Given the description of an element on the screen output the (x, y) to click on. 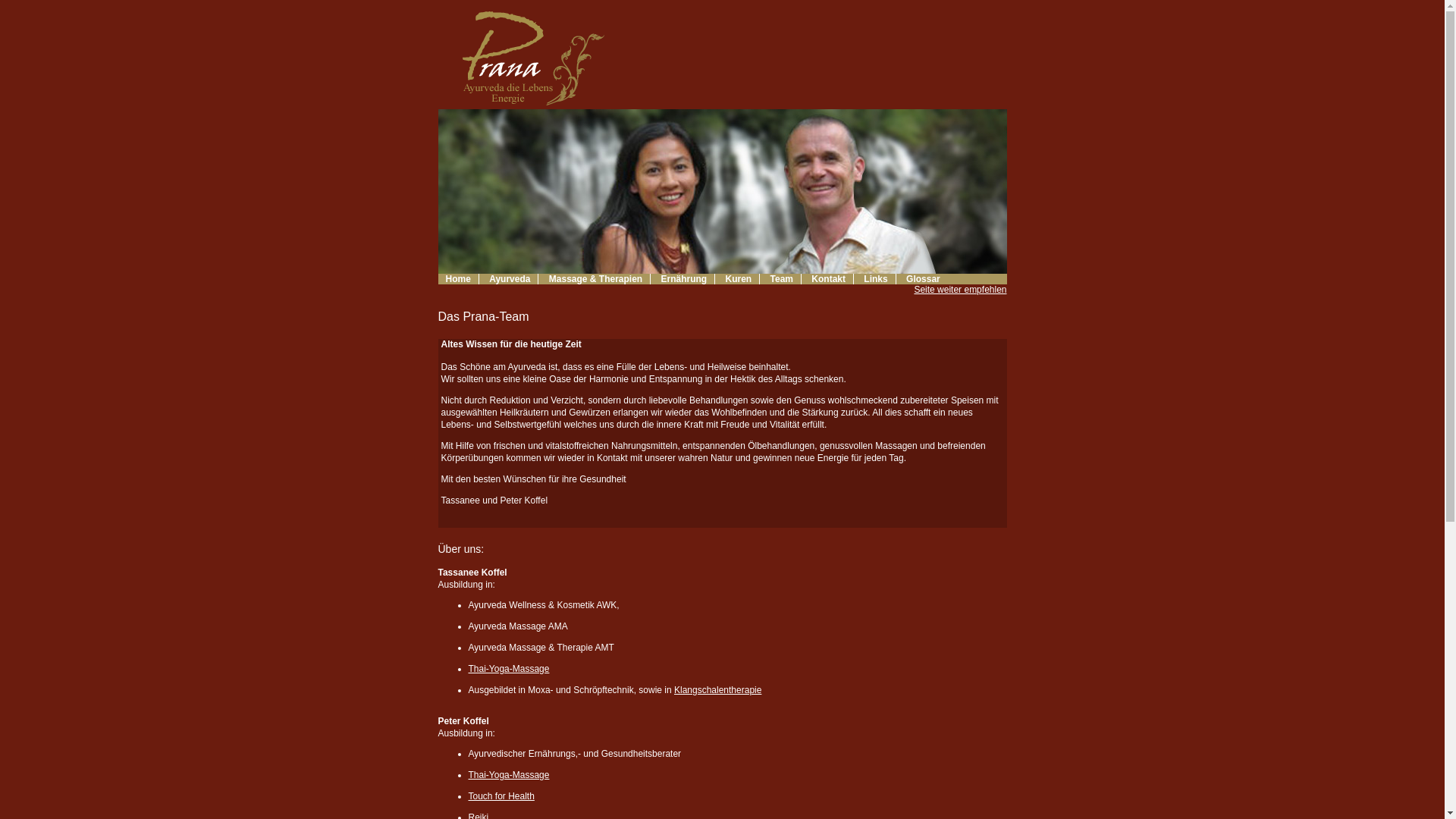
zur Einstiegsseite Ayurveda Prana Element type: hover (529, 105)
Thai-Yoga-Massage Element type: text (508, 774)
Ayurveda Element type: text (509, 278)
Seite weiter empfehlen Element type: text (959, 289)
Thai-Yoga-Massage Element type: text (508, 668)
Kontakt Element type: text (828, 278)
Touch for Health Element type: text (501, 795)
Kuren Element type: text (739, 278)
Glossar Element type: text (922, 278)
Home Element type: text (458, 278)
Massage & Therapien Element type: text (595, 278)
Links Element type: text (875, 278)
Klangschalentherapie Element type: text (717, 689)
Team Element type: text (781, 278)
